Given the description of an element on the screen output the (x, y) to click on. 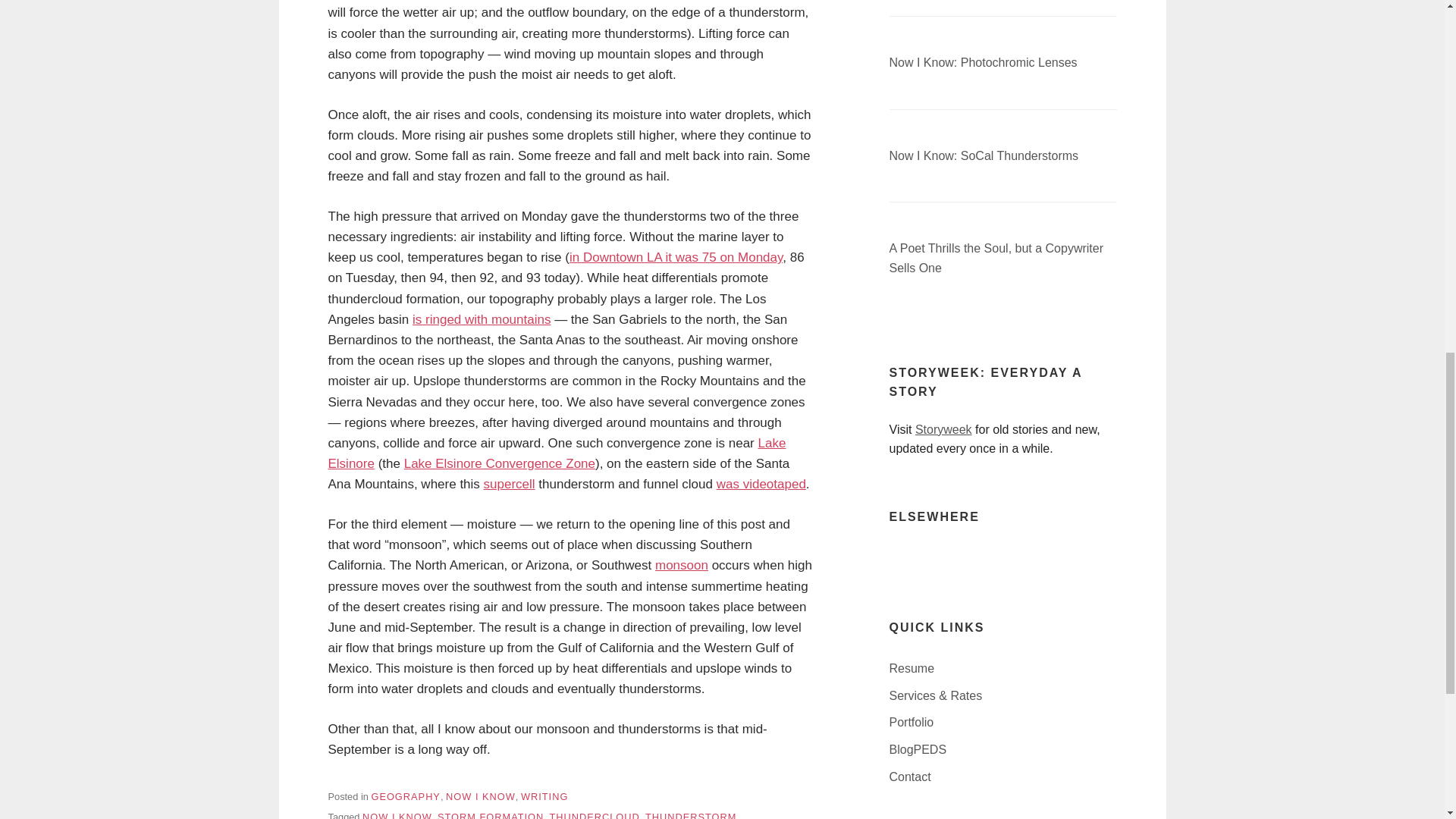
NOW I KNOW (480, 796)
THUNDERCLOUD (593, 815)
NOW I KNOW (397, 815)
Lake Elsinore (556, 452)
Storyweek (943, 429)
STORM FORMATION (490, 815)
in Downtown LA it was 75 on Monday (676, 257)
LinkedIn (900, 557)
was videotaped (761, 483)
Lake Elsinore Convergence Zone (499, 463)
